Given the description of an element on the screen output the (x, y) to click on. 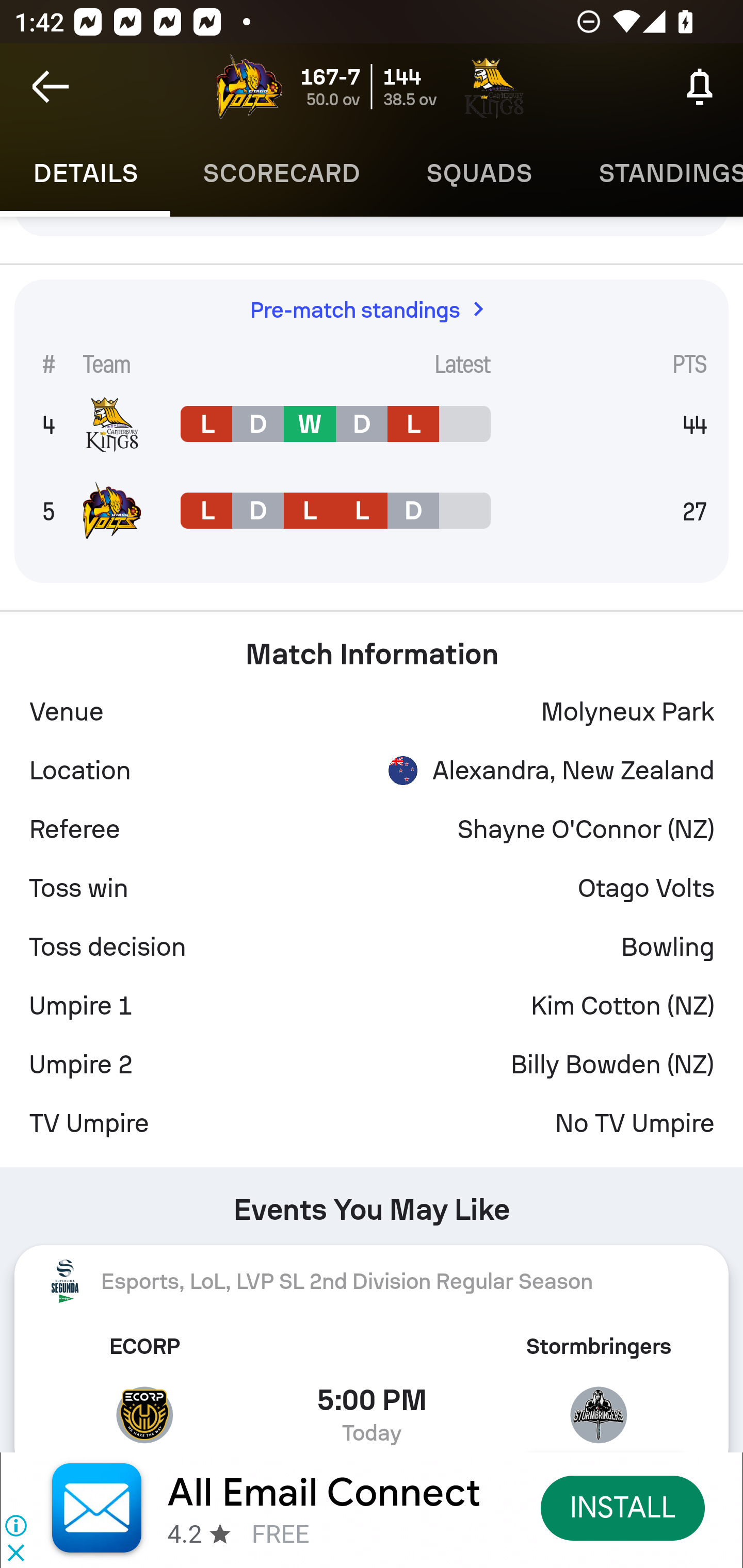
Navigate up (50, 86)
Scorecard SCORECARD (281, 173)
Squads SQUADS (479, 173)
Standings STANDINGS (654, 173)
Events You May Like (371, 1201)
Esports, LoL, LVP SL 2nd Division Regular Season (371, 1280)
All Email Connect (324, 1493)
INSTALL (623, 1507)
